Given the description of an element on the screen output the (x, y) to click on. 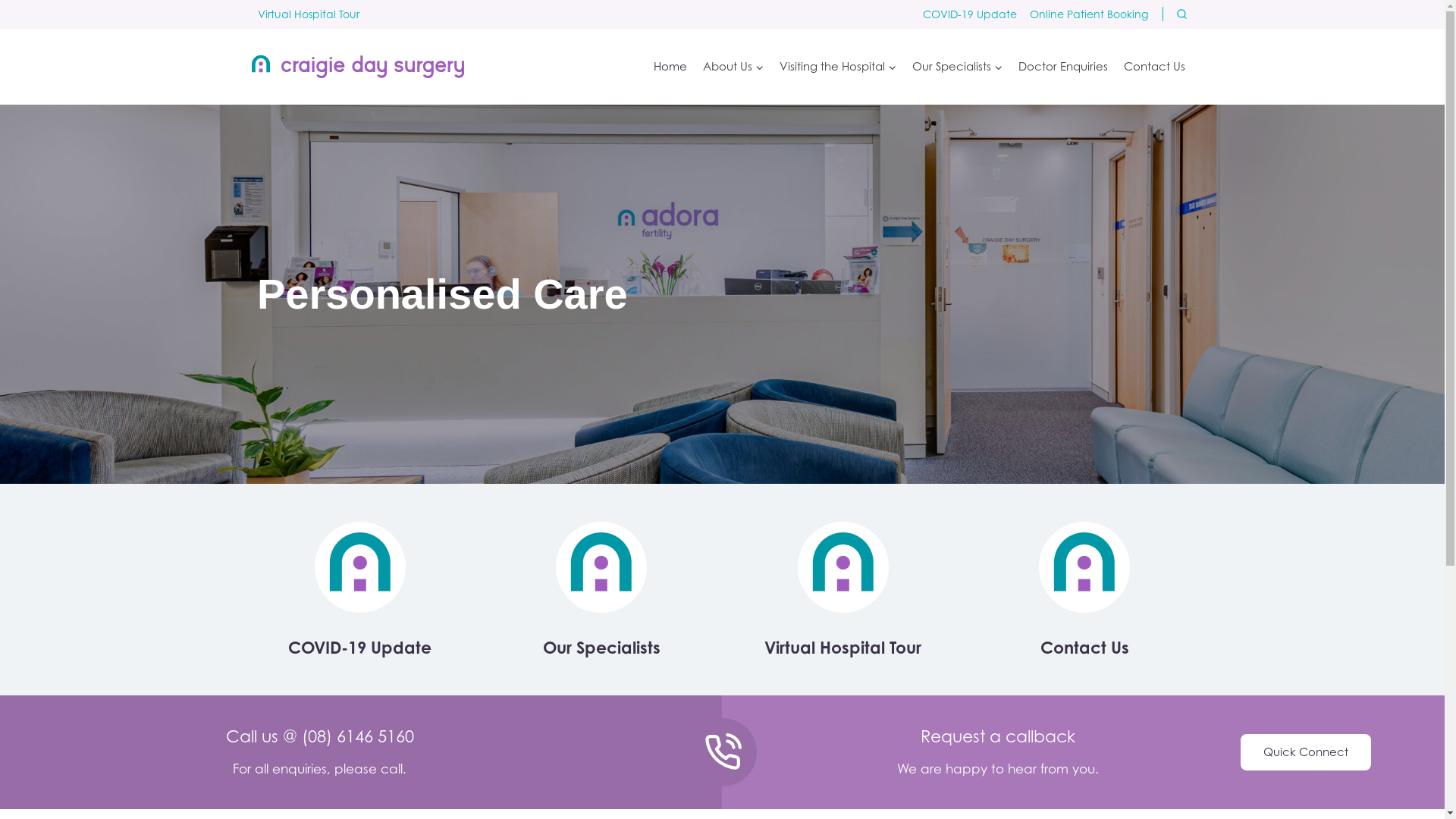
COVID-19 Update Element type: text (359, 647)
Call us @ (08) 6146 5160 Element type: text (319, 735)
About Us Element type: text (732, 66)
Online Patient Booking Element type: text (1088, 14)
Contact Us Element type: text (1084, 647)
Doctor Enquiries Element type: text (1062, 66)
Contact Us Element type: text (1154, 66)
Virtual Hospital Tour Element type: text (308, 14)
COVID-19 Update Element type: text (969, 14)
Virtual Hospital Tour Element type: text (842, 647)
Visiting the Hospital Element type: text (837, 66)
Quick Connect Element type: text (1305, 752)
Our Specialists Element type: text (601, 647)
Our Specialists Element type: text (956, 66)
Home Element type: text (670, 66)
